Given the description of an element on the screen output the (x, y) to click on. 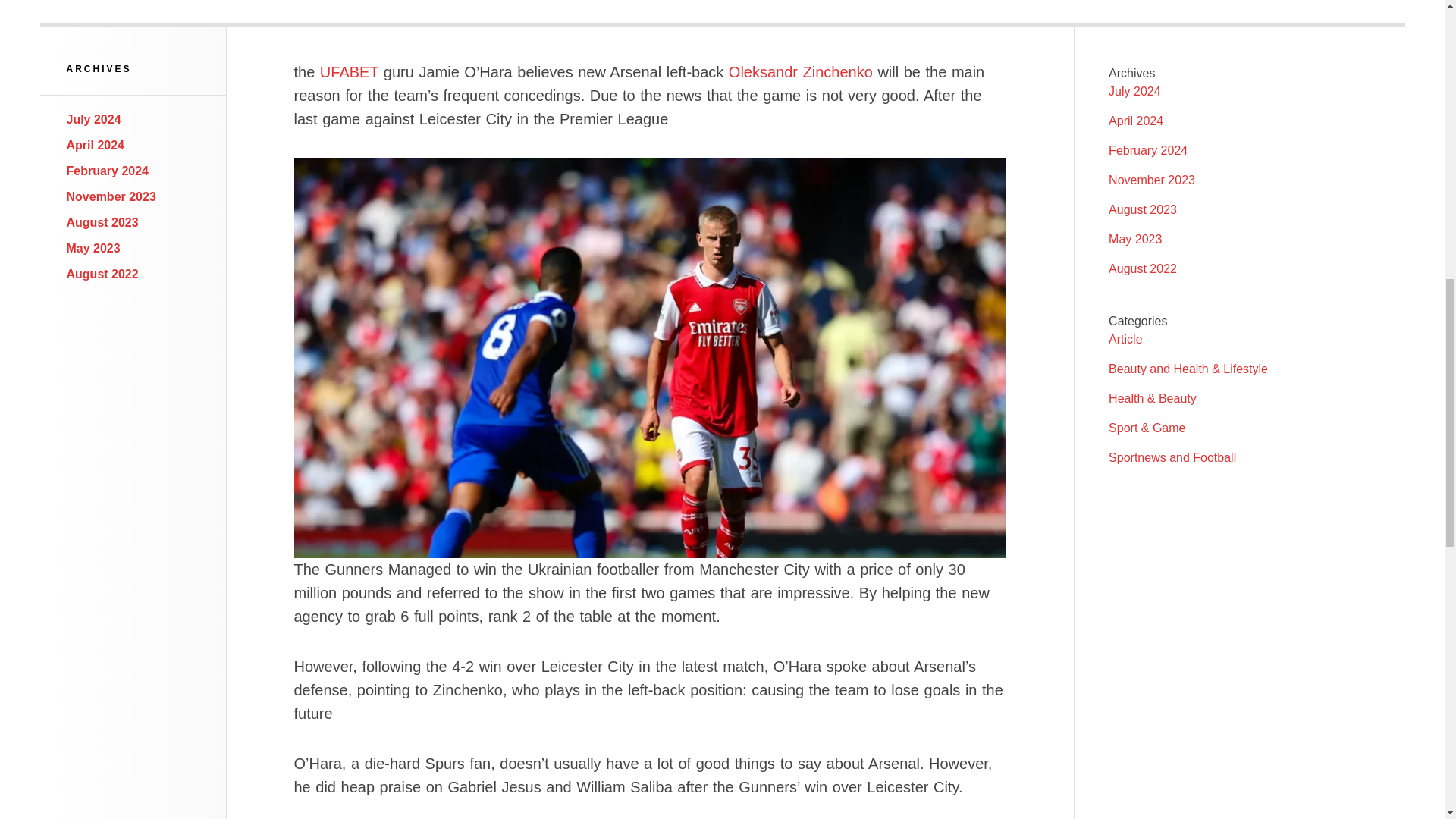
July 2024 (1134, 91)
July 2024 (93, 119)
April 2024 (94, 144)
November 2023 (110, 196)
August 2022 (102, 273)
Oleksandr Zinchenko (800, 71)
February 2024 (107, 170)
May 2023 (1134, 238)
August 2023 (1142, 209)
August 2023 (102, 222)
UFABET (349, 71)
November 2023 (1151, 179)
February 2024 (1148, 150)
April 2024 (1135, 120)
May 2023 (93, 247)
